Given the description of an element on the screen output the (x, y) to click on. 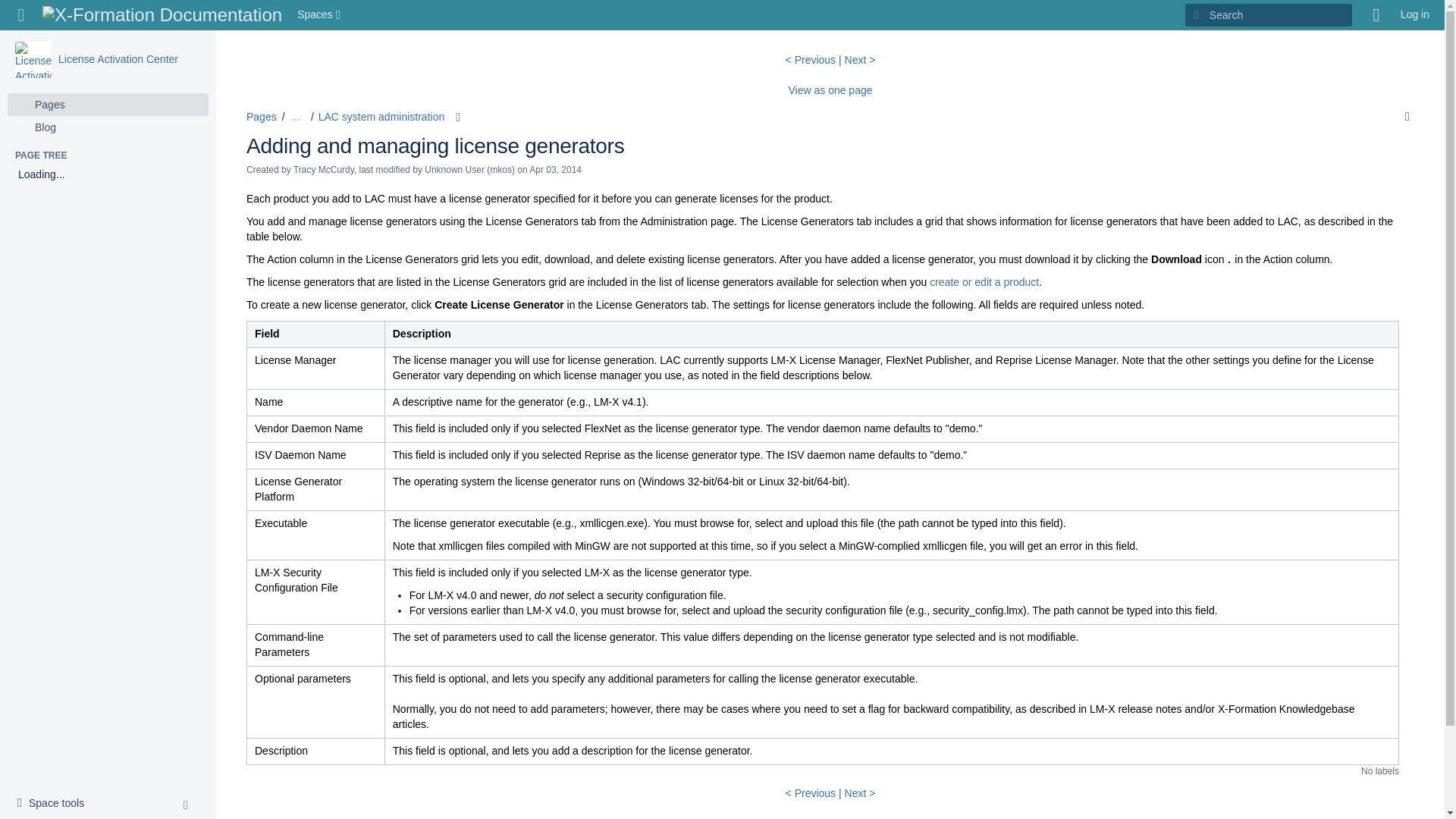
Linked Applications (20, 15)
Help (1376, 15)
Pages (107, 104)
Pages (261, 116)
Spaces (54, 803)
View as one page (319, 15)
Spaces (829, 90)
Log in (319, 15)
Blog (1415, 15)
License Activation Center (107, 127)
Help (32, 59)
License Activation Center (117, 59)
